Given the description of an element on the screen output the (x, y) to click on. 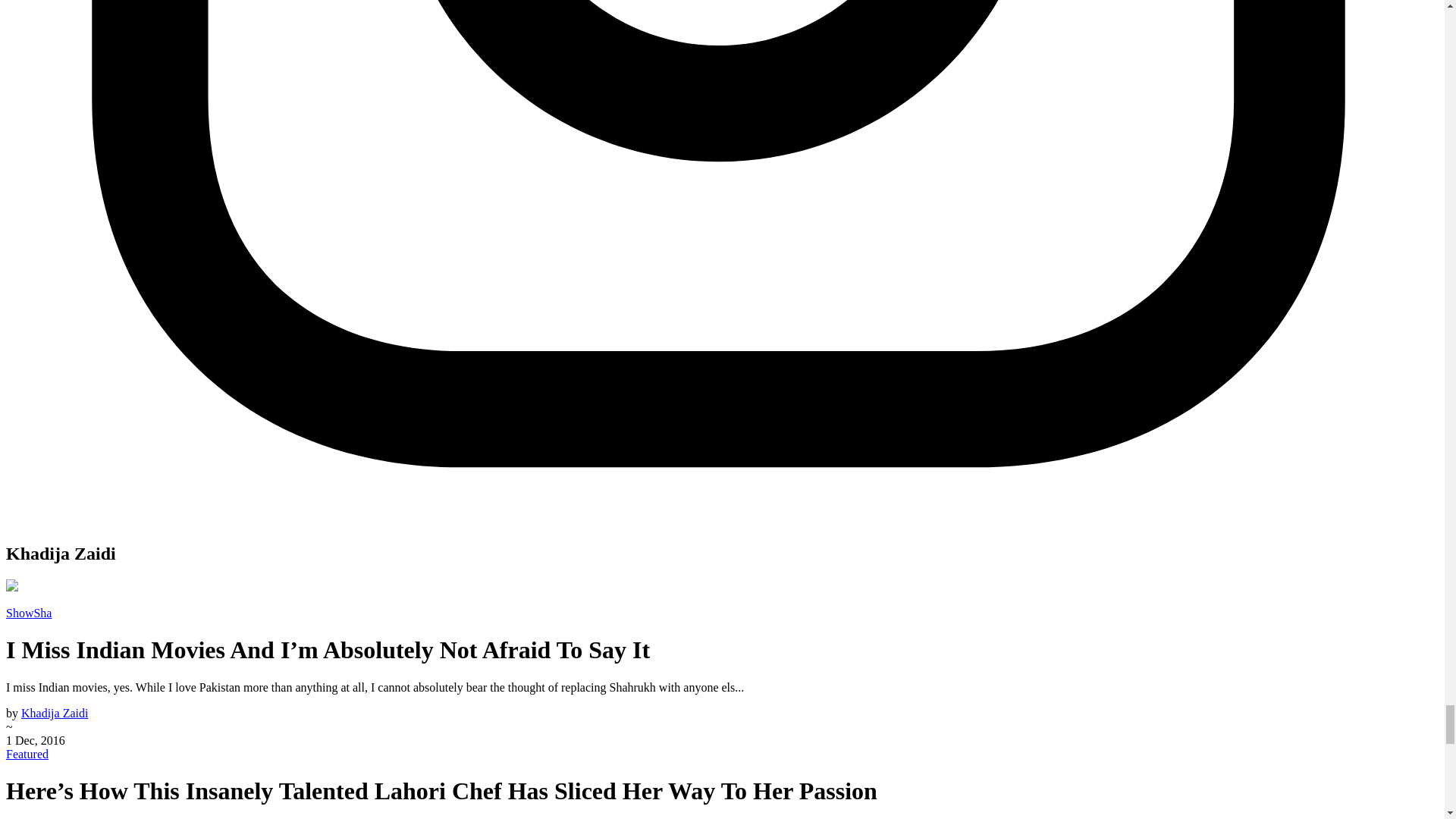
ShowSha (27, 612)
Featured (26, 753)
Khadija Zaidi (54, 712)
